Given the description of an element on the screen output the (x, y) to click on. 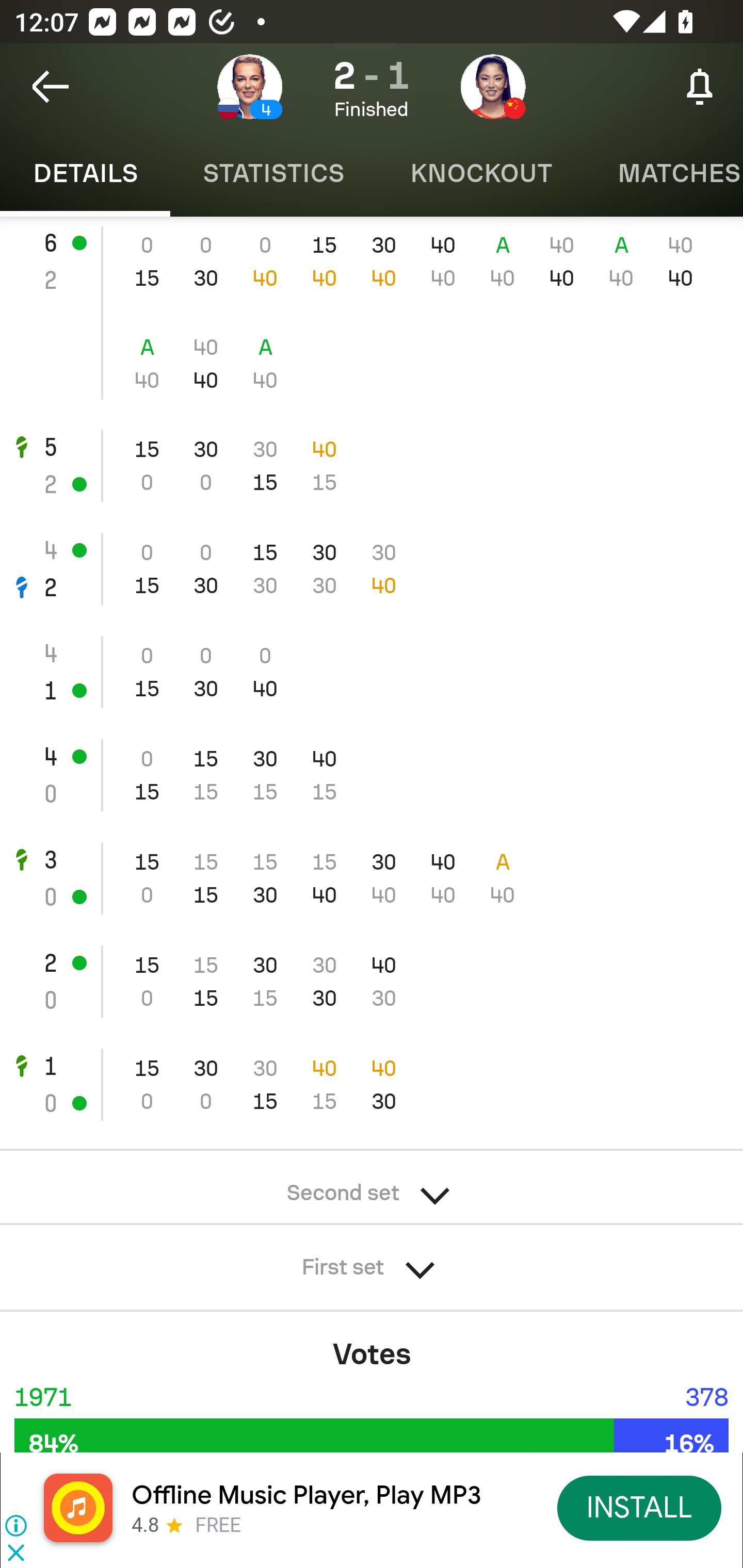
Navigate up (50, 86)
Statistics STATISTICS (273, 173)
Knockout KNOCKOUT (480, 173)
Matches MATCHES (663, 173)
A 40 A 40 40 40 (371, 363)
5 15 30 30 40 2 0 0 15 15 (371, 465)
4 0 0 15 30 30 2 15 30 30 30 40 (371, 568)
4 0 0 0 1 15 30 40 (371, 672)
4 0 15 30 40 0 15 15 15 15 (371, 775)
3 15 15 15 15 30 40 A 0 0 15 30 40 40 40 40 (371, 877)
2 15 15 30 30 40 0 0 15 15 30 30 (371, 981)
1 15 30 30 40 40 0 0 0 15 15 30 (371, 1084)
Second set (371, 1186)
First set (371, 1260)
INSTALL (639, 1507)
Offline Music Player, Play MP3 (306, 1494)
